Given the description of an element on the screen output the (x, y) to click on. 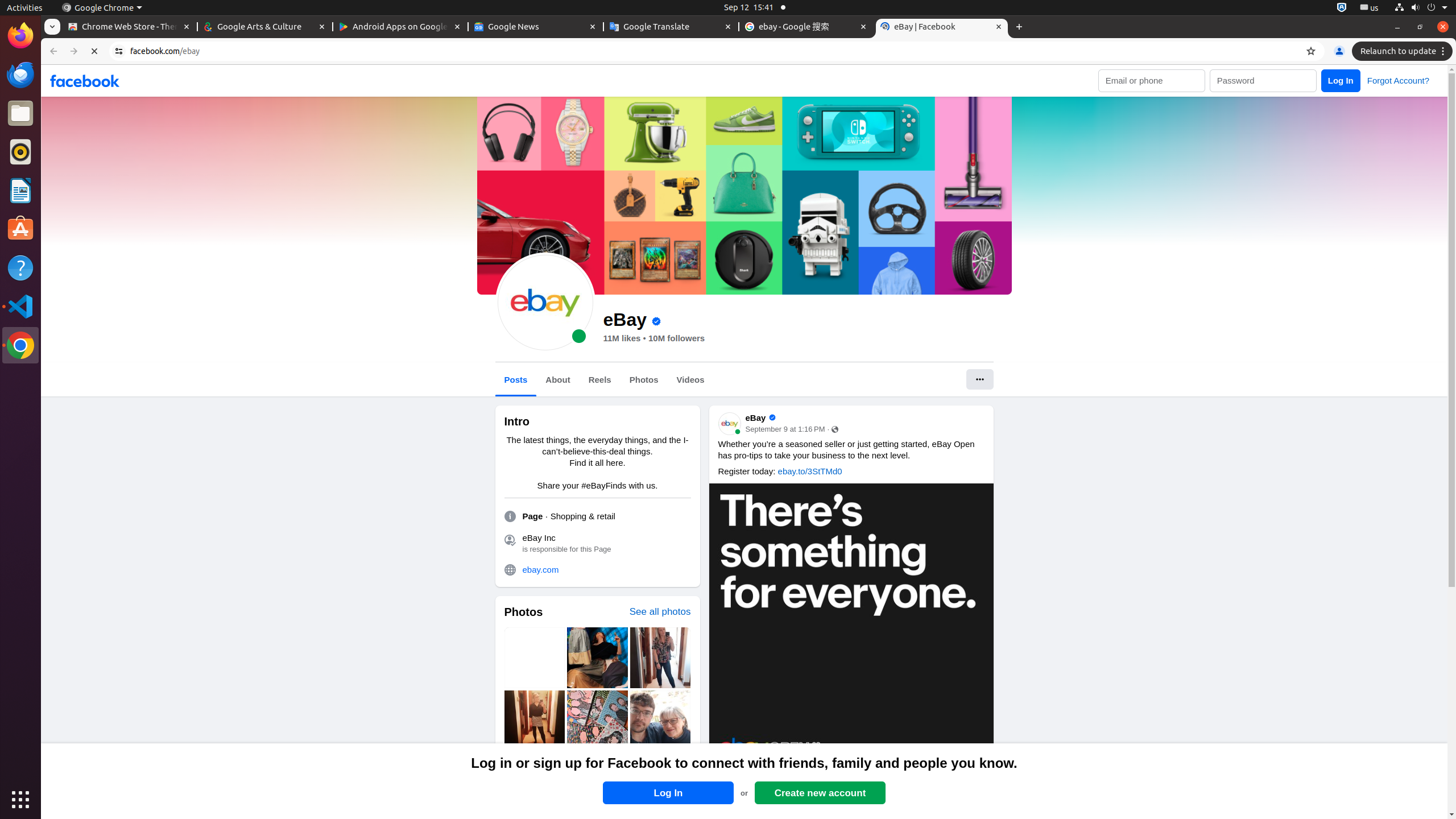
Rhythmbox Element type: push-button (20, 151)
Log In Element type: link (667, 792)
Help Element type: push-button (20, 267)
Android Apps on Google Play - Memory usage - 60.7 MB Element type: page-tab (400, 26)
You Element type: push-button (1339, 50)
